Given the description of an element on the screen output the (x, y) to click on. 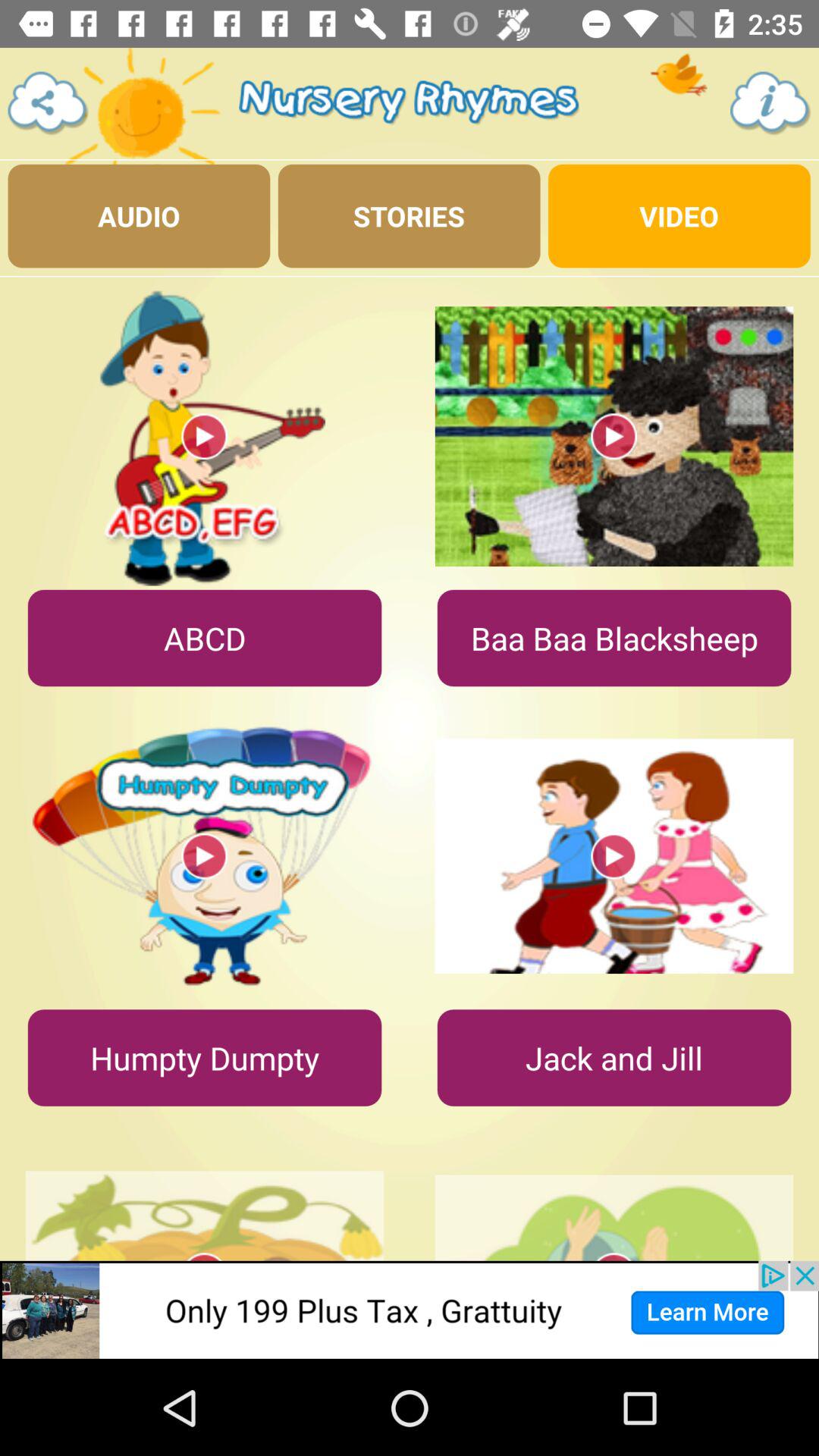
select the audio (139, 215)
